Given the description of an element on the screen output the (x, y) to click on. 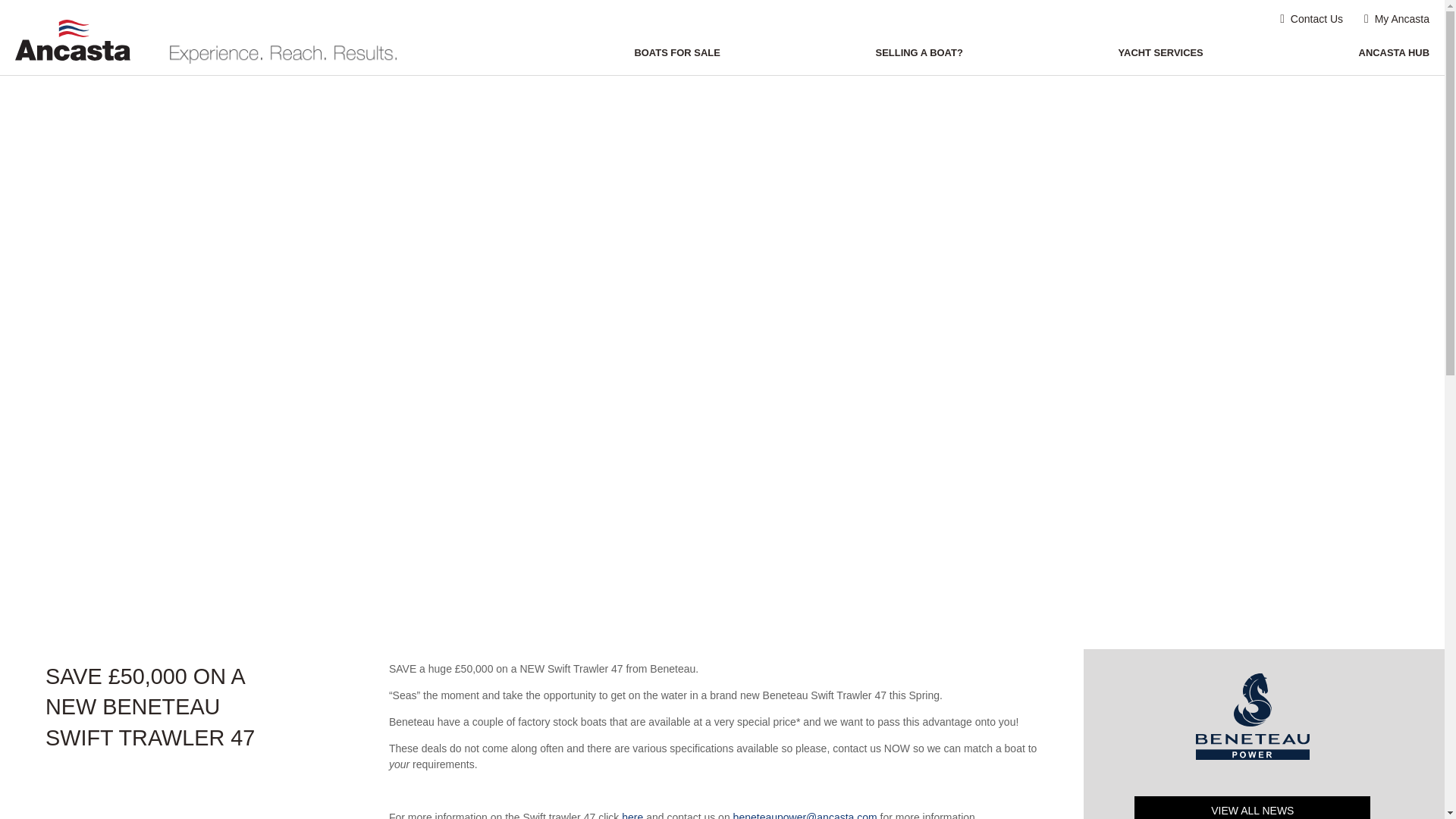
Contact Us (1310, 19)
My Ancasta (1396, 19)
Ancasta International Boat Sales (77, 33)
BOATS FOR SALE (676, 52)
